Given the description of an element on the screen output the (x, y) to click on. 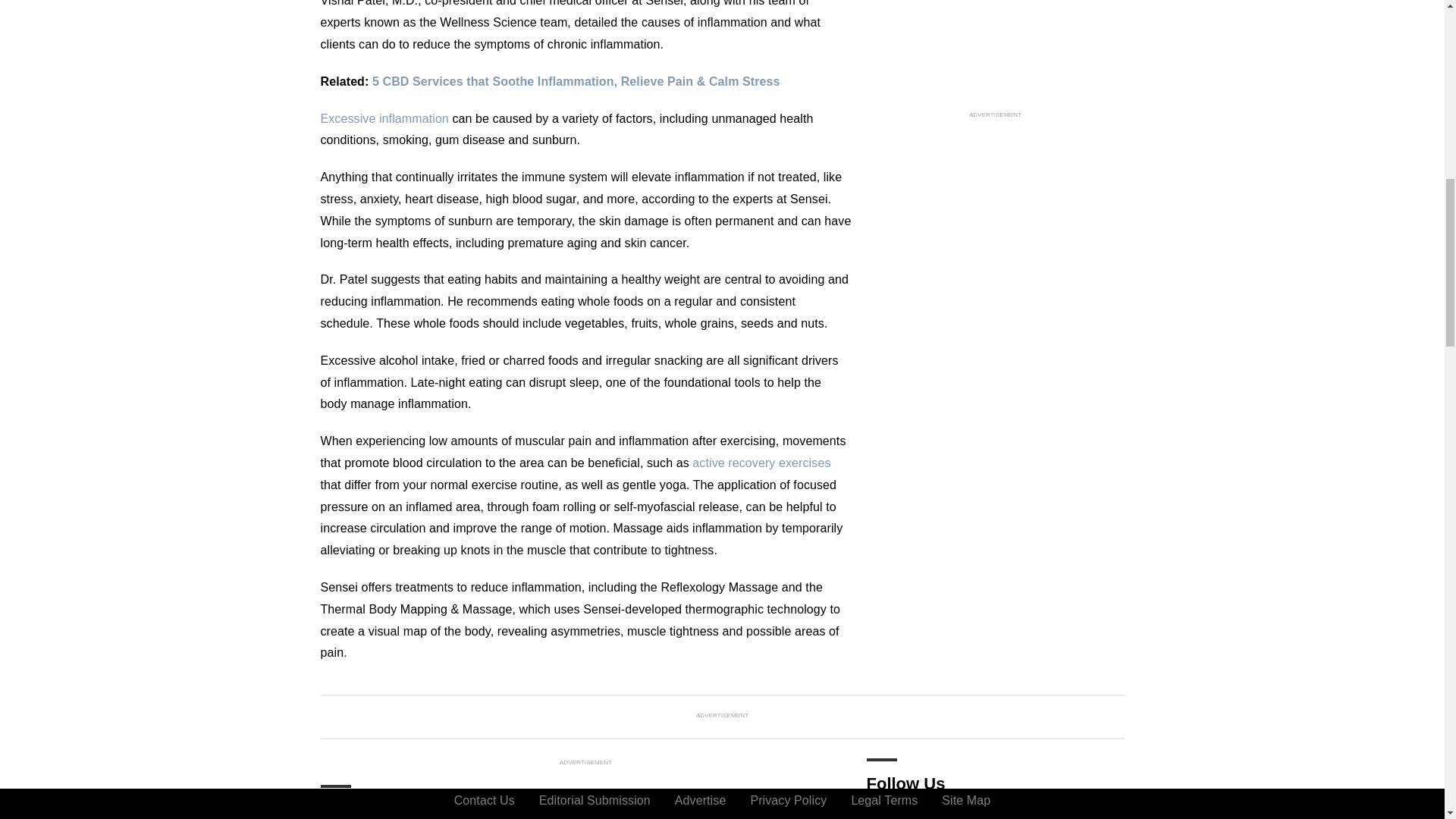
LinkedIn icon (1051, 814)
Instagram icon (923, 814)
YouTube icon (964, 814)
Twitter X icon (1006, 814)
Facebook icon (881, 814)
